Given the description of an element on the screen output the (x, y) to click on. 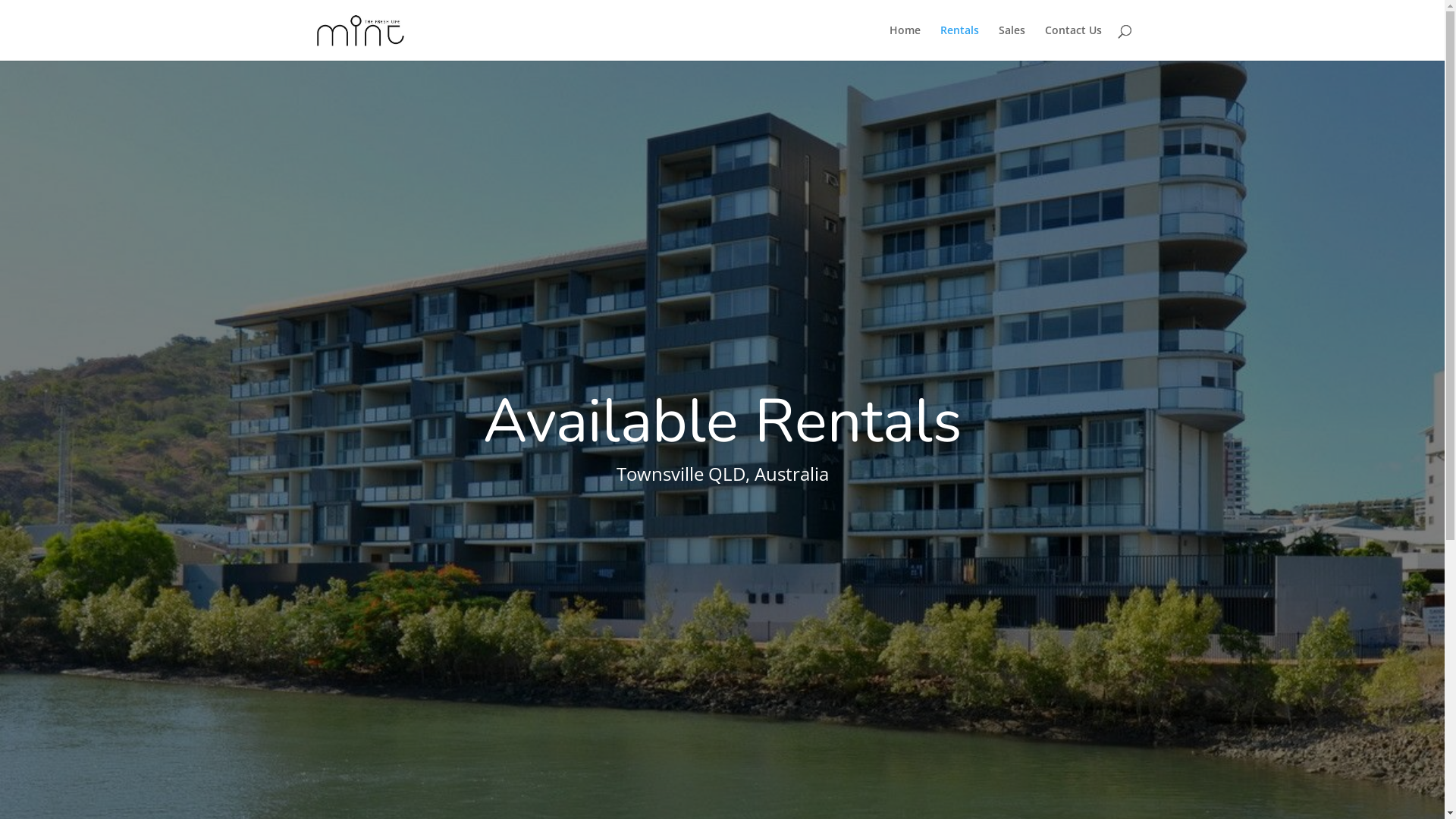
Contact Us Element type: text (1072, 42)
Rentals Element type: text (959, 42)
Home Element type: text (903, 42)
Sales Element type: text (1010, 42)
